Given the description of an element on the screen output the (x, y) to click on. 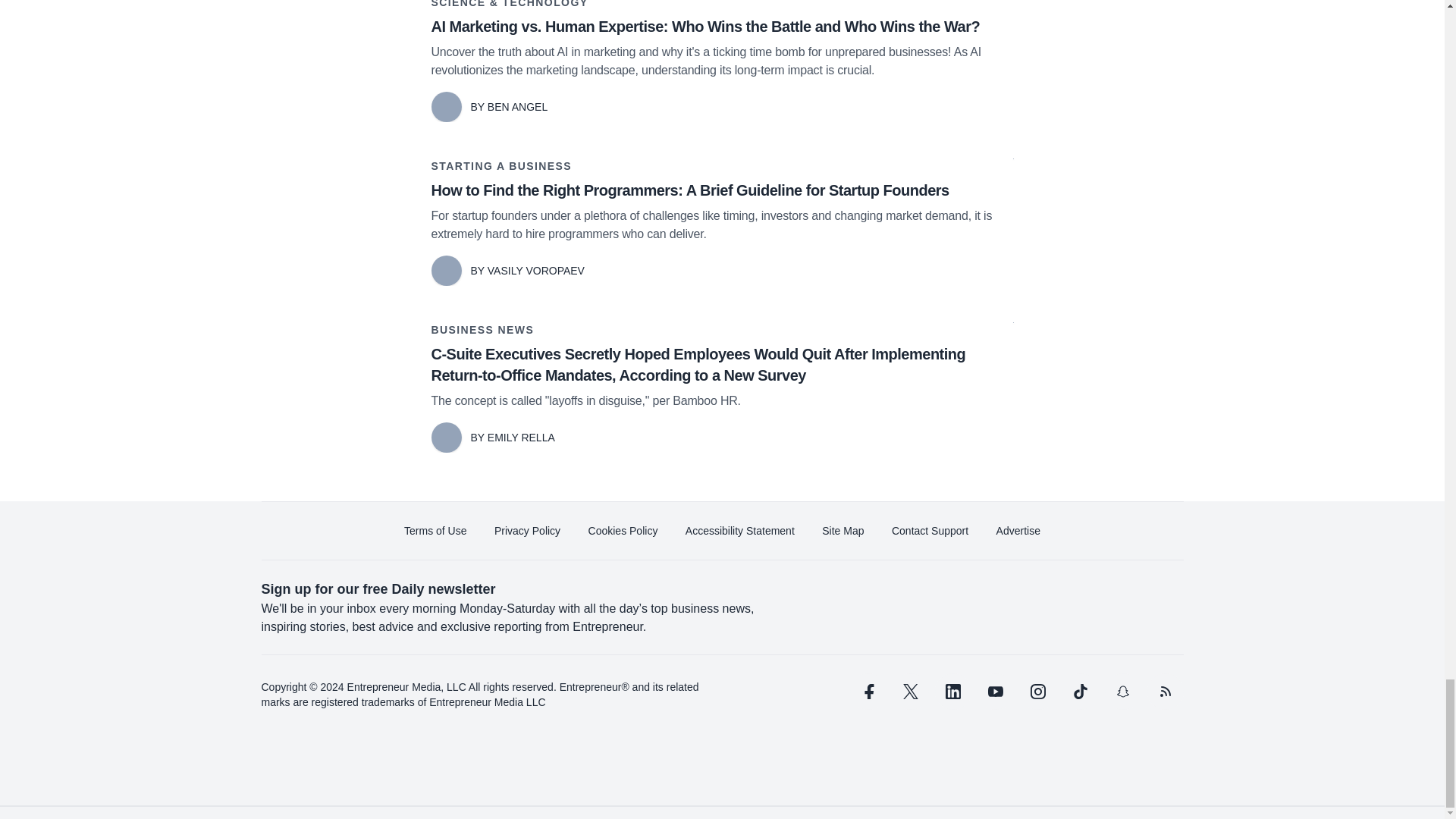
youtube (994, 691)
linkedin (952, 691)
tiktok (1079, 691)
snapchat (1121, 691)
instagram (1037, 691)
facebook (866, 691)
twitter (909, 691)
